Given the description of an element on the screen output the (x, y) to click on. 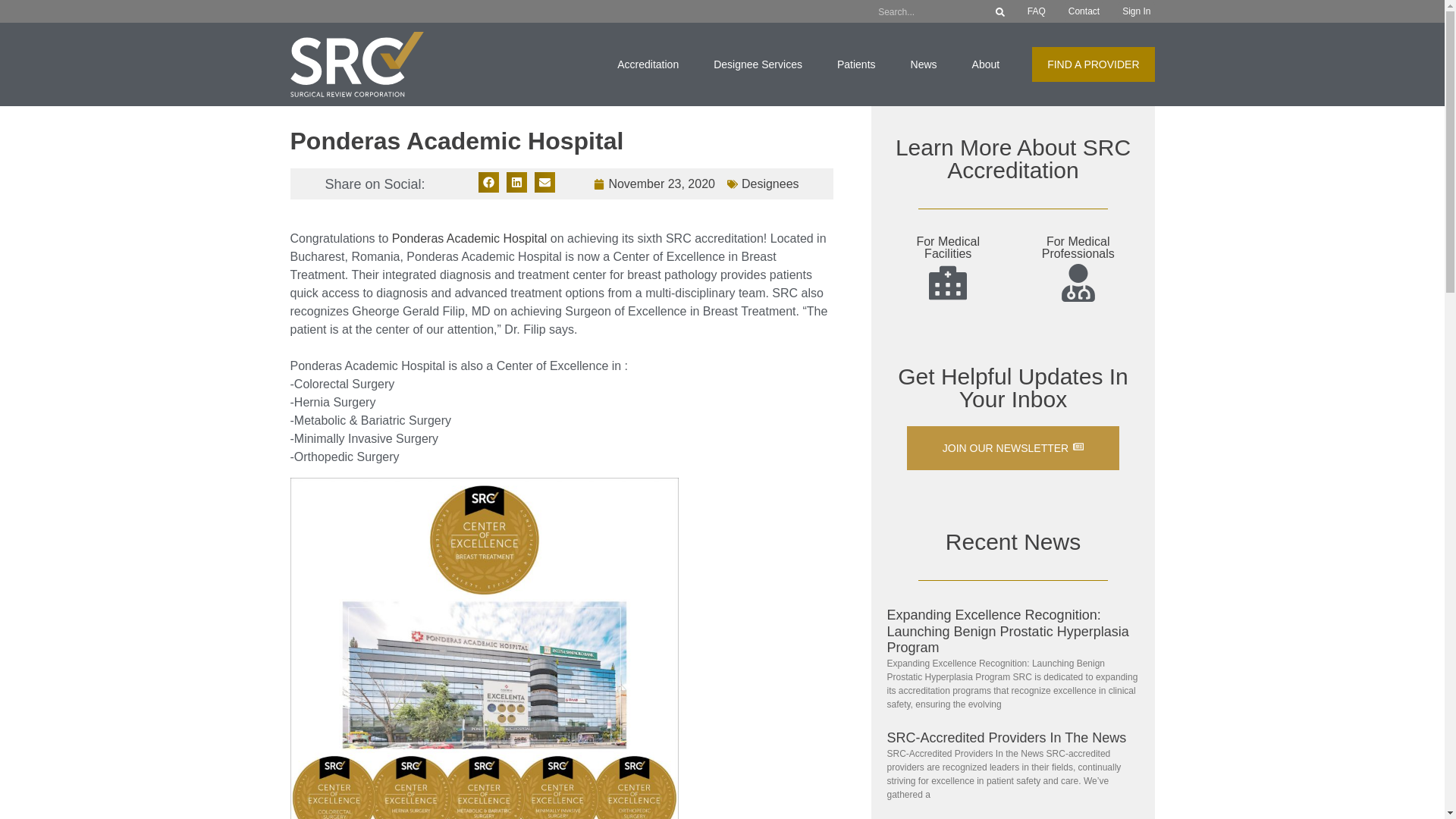
About (986, 64)
Sign In (1136, 11)
Designees (770, 183)
Ponderas Academic Hospital (469, 237)
Designee Services (757, 64)
About Surgical Review Corporation (986, 64)
Accreditation (647, 64)
Patients (856, 64)
News (924, 64)
